Given the description of an element on the screen output the (x, y) to click on. 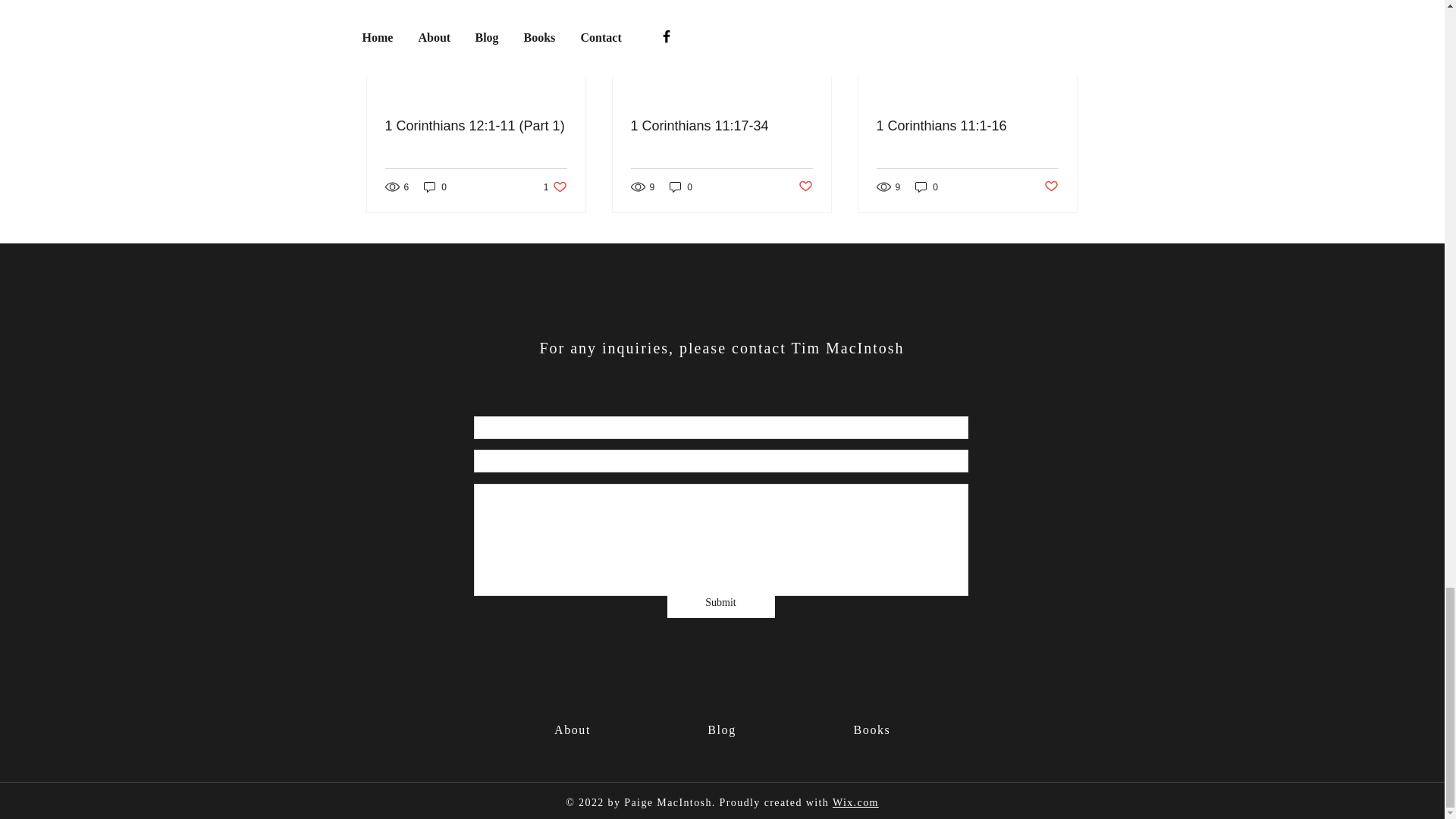
Submit (720, 603)
0 (435, 186)
Wix.com (855, 802)
0 (681, 186)
About (572, 729)
Blog (721, 729)
0 (555, 186)
Books (926, 186)
Post not marked as liked (872, 729)
1 Corinthians 11:1-16 (1050, 186)
1 Corinthians 11:17-34 (967, 125)
Post not marked as liked (721, 125)
